Given the description of an element on the screen output the (x, y) to click on. 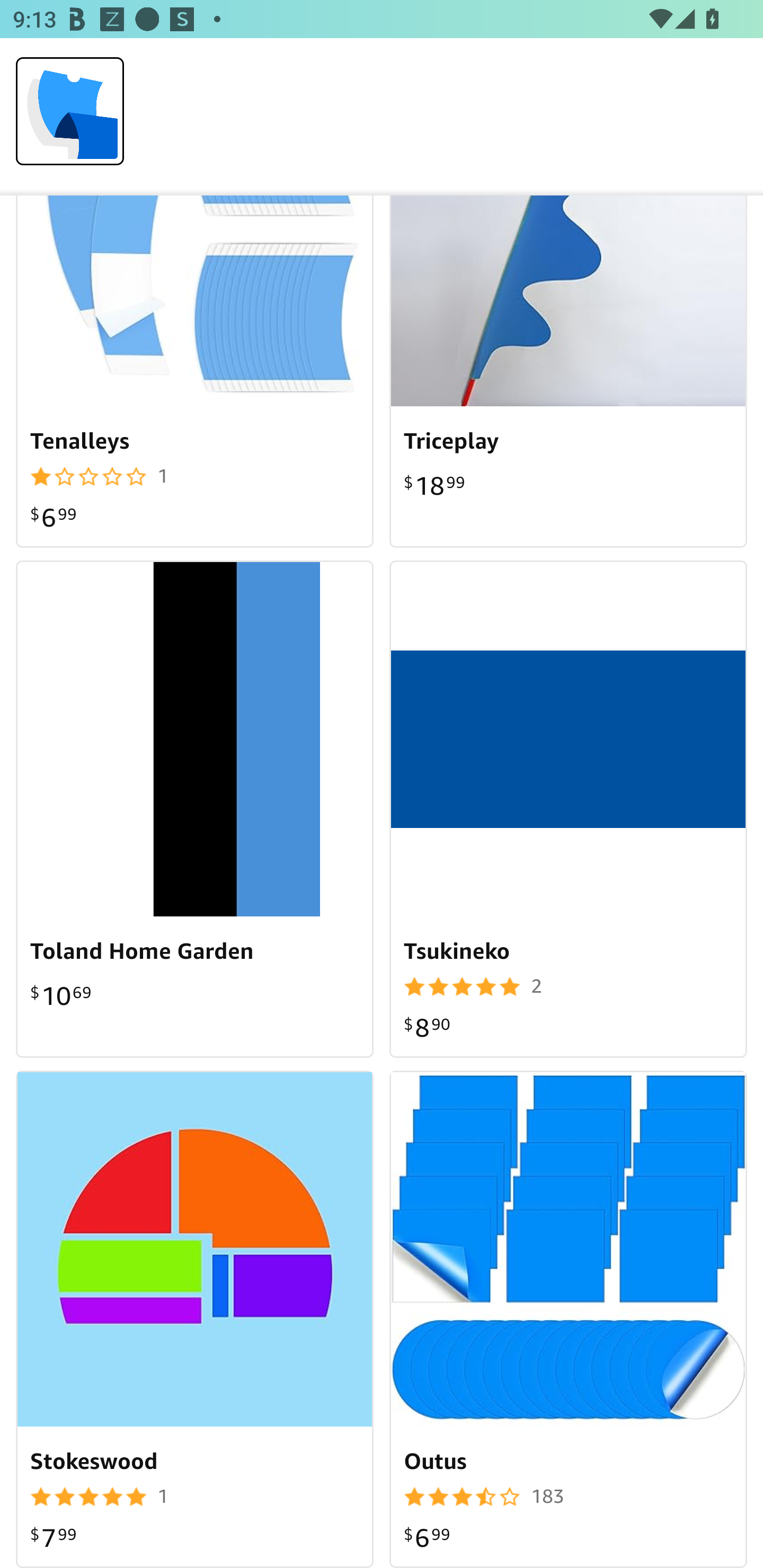
Tenalleys 1 $ 6 99 (194, 371)
Triceplay $ 18 99 (567, 371)
Toland Home Garden $ 10 69 (194, 808)
Tsukineko 2 $ 8 90 (567, 808)
Stokeswood 1 $ 7 99 (194, 1319)
Outus 183 $ 6 99 (567, 1319)
